Given the description of an element on the screen output the (x, y) to click on. 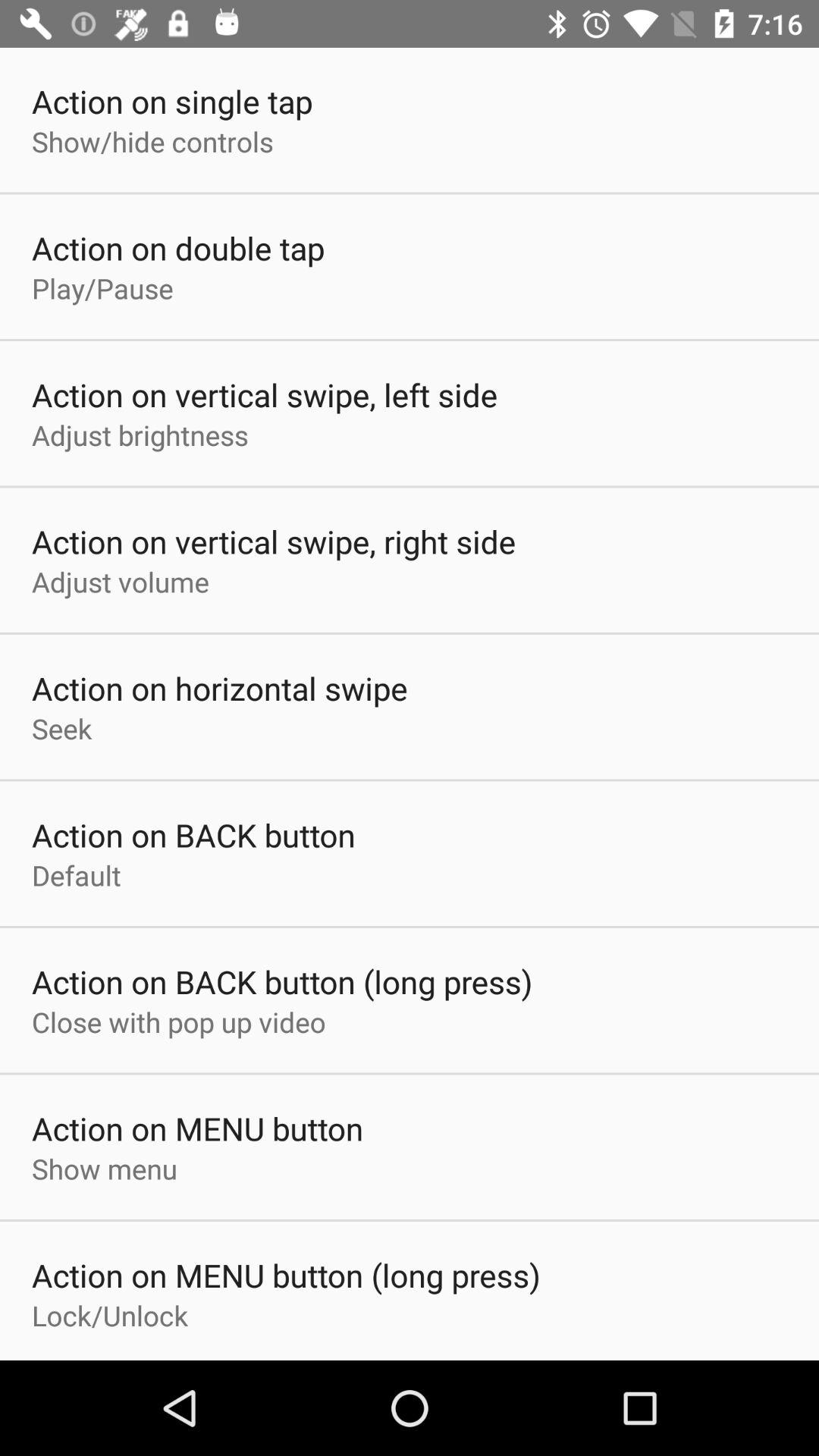
select the lock/unlock item (109, 1315)
